Given the description of an element on the screen output the (x, y) to click on. 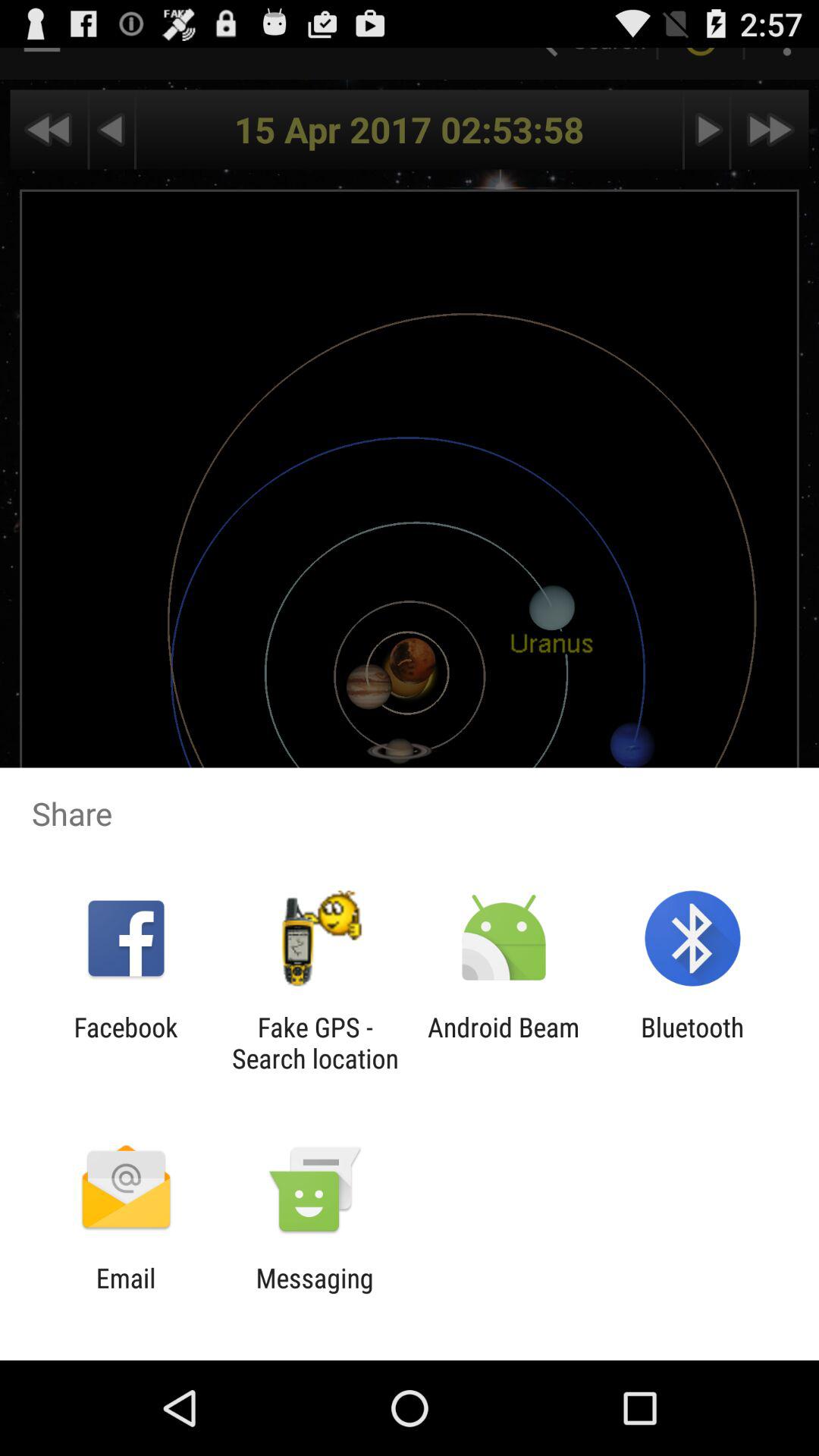
press the facebook icon (125, 1042)
